Given the description of an element on the screen output the (x, y) to click on. 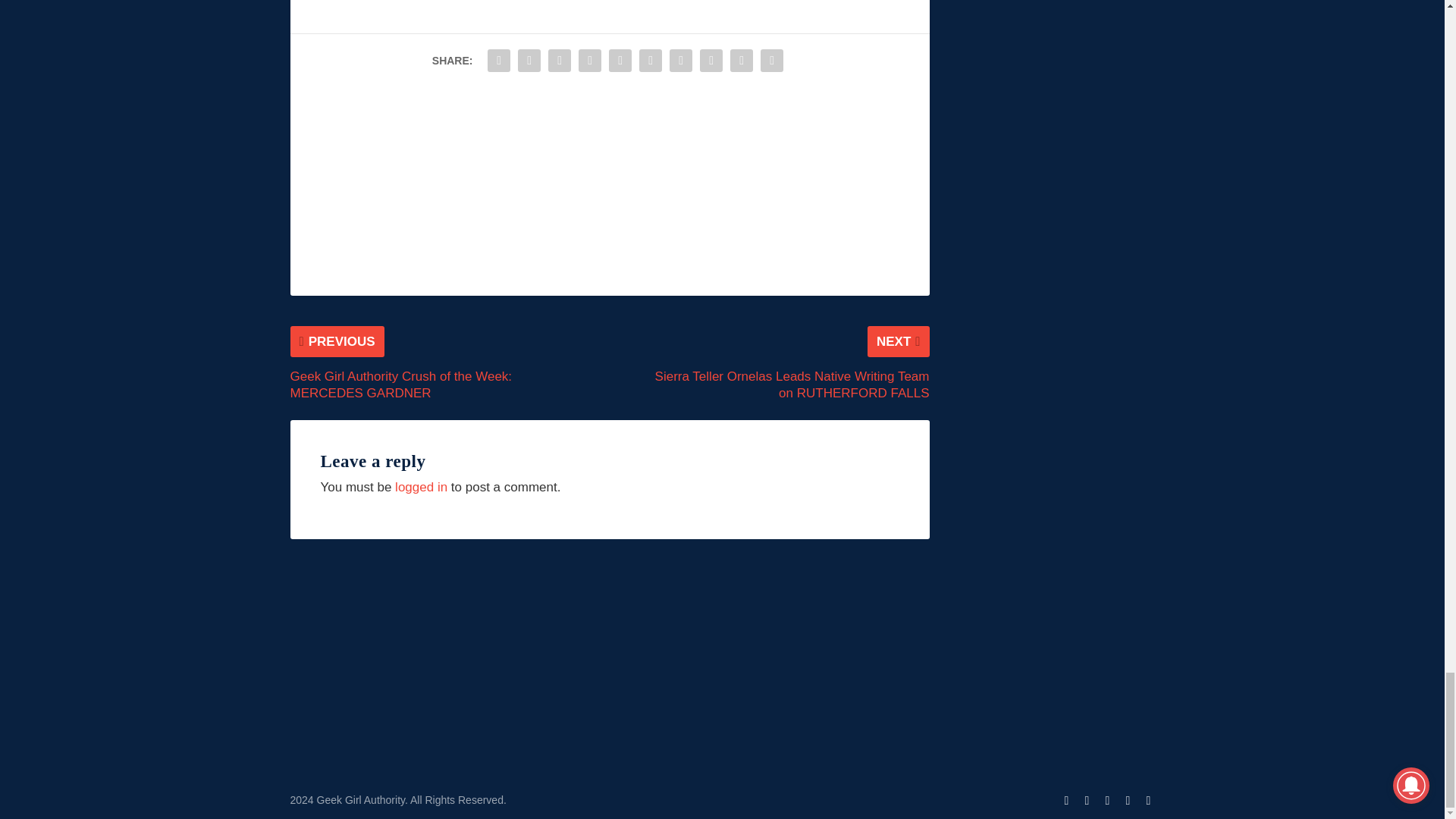
Share "CHAD Review: Nasim Pedrad WHY!?!?!" via LinkedIn (649, 60)
Share "CHAD Review: Nasim Pedrad WHY!?!?!" via Buffer (680, 60)
Share "CHAD Review: Nasim Pedrad WHY!?!?!" via Facebook (498, 60)
Share "CHAD Review: Nasim Pedrad WHY!?!?!" via Stumbleupon (710, 60)
Share "CHAD Review: Nasim Pedrad WHY!?!?!" via Tumblr (590, 60)
Share "CHAD Review: Nasim Pedrad WHY!?!?!" via Pinterest (619, 60)
Share "CHAD Review: Nasim Pedrad WHY!?!?!" via Twitter (528, 60)
